Given the description of an element on the screen output the (x, y) to click on. 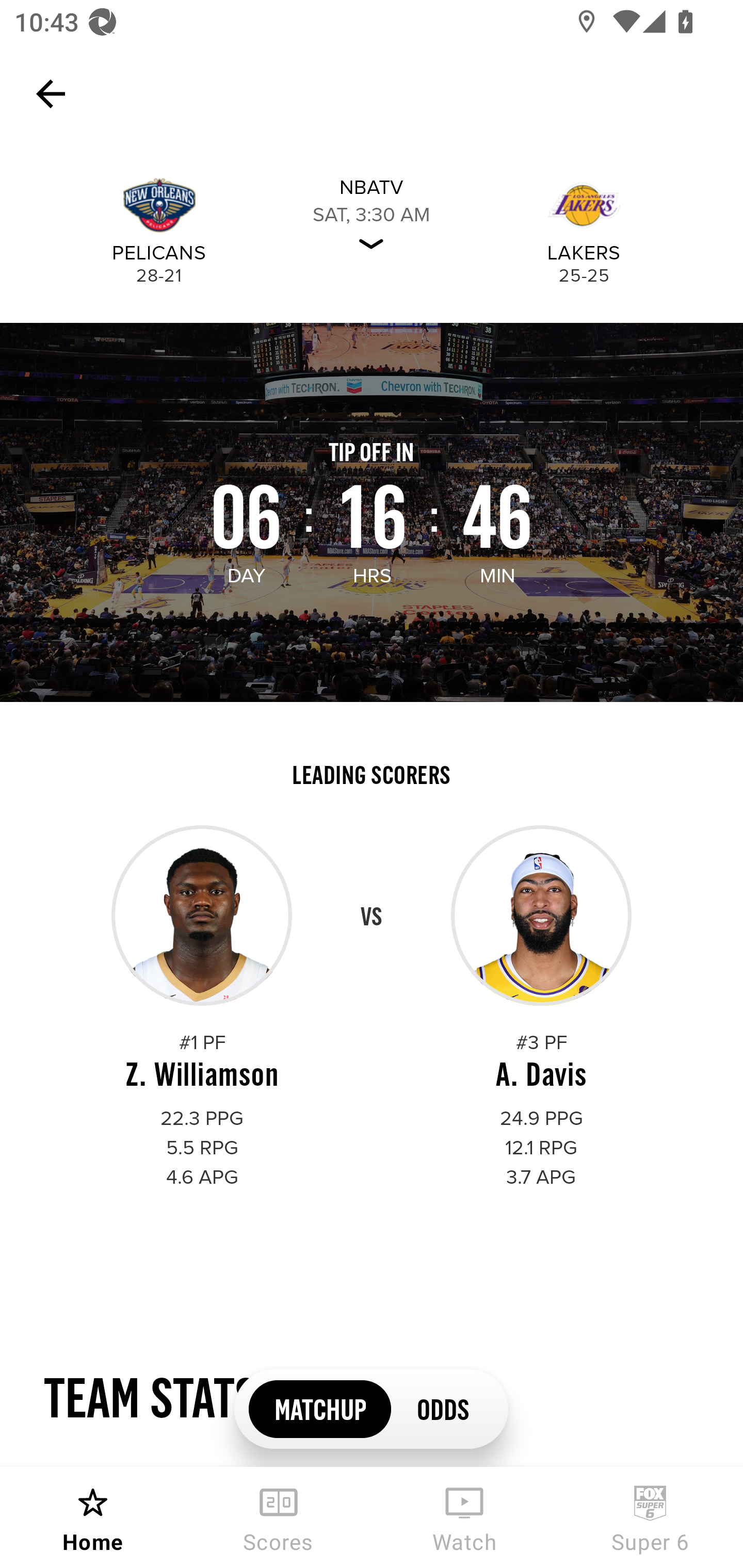
Navigate up (50, 93)
ODDS (442, 1408)
Scores (278, 1517)
Watch (464, 1517)
Super 6 (650, 1517)
